Given the description of an element on the screen output the (x, y) to click on. 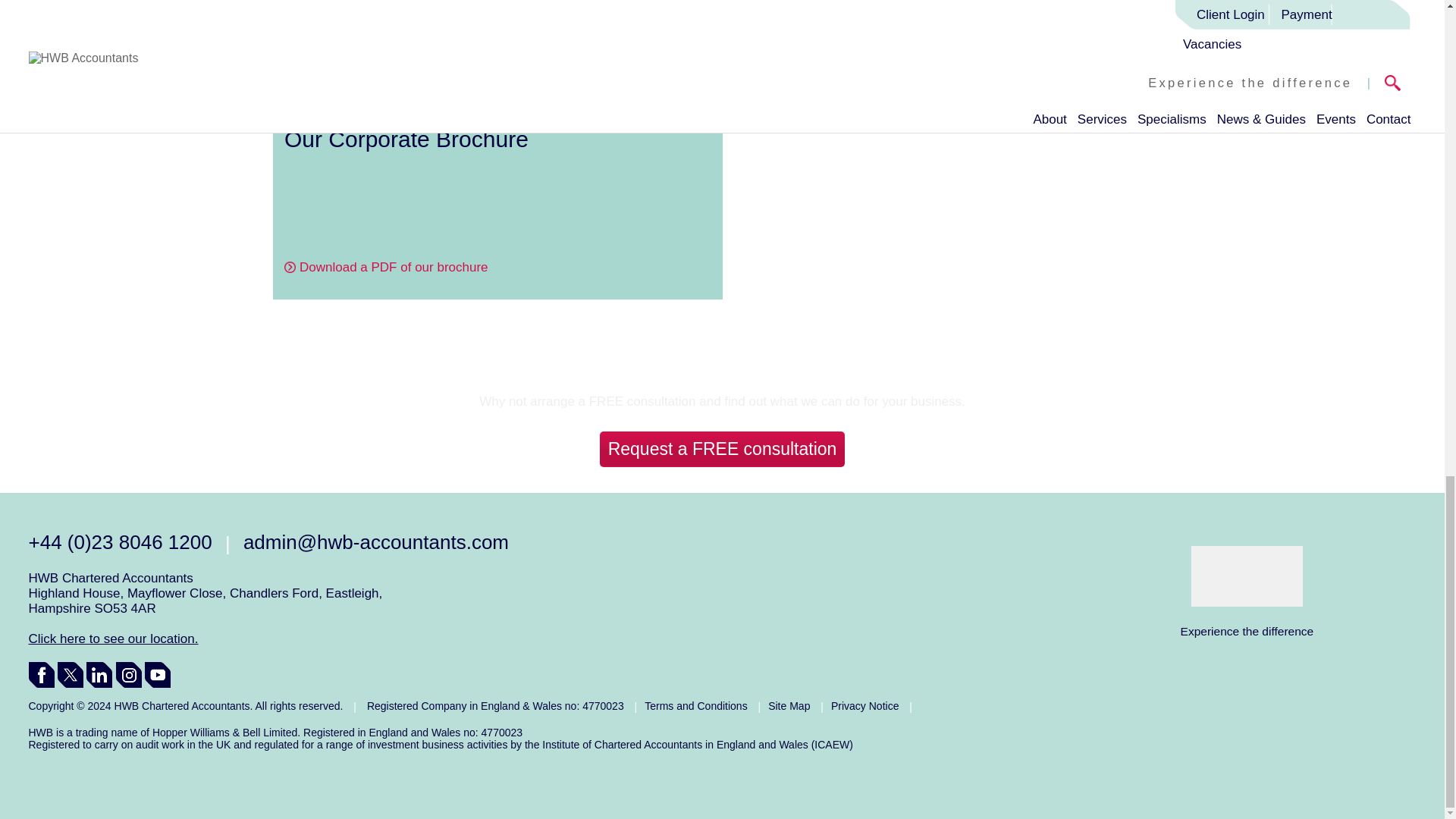
bigstock--165516491 (497, 54)
